Given the description of an element on the screen output the (x, y) to click on. 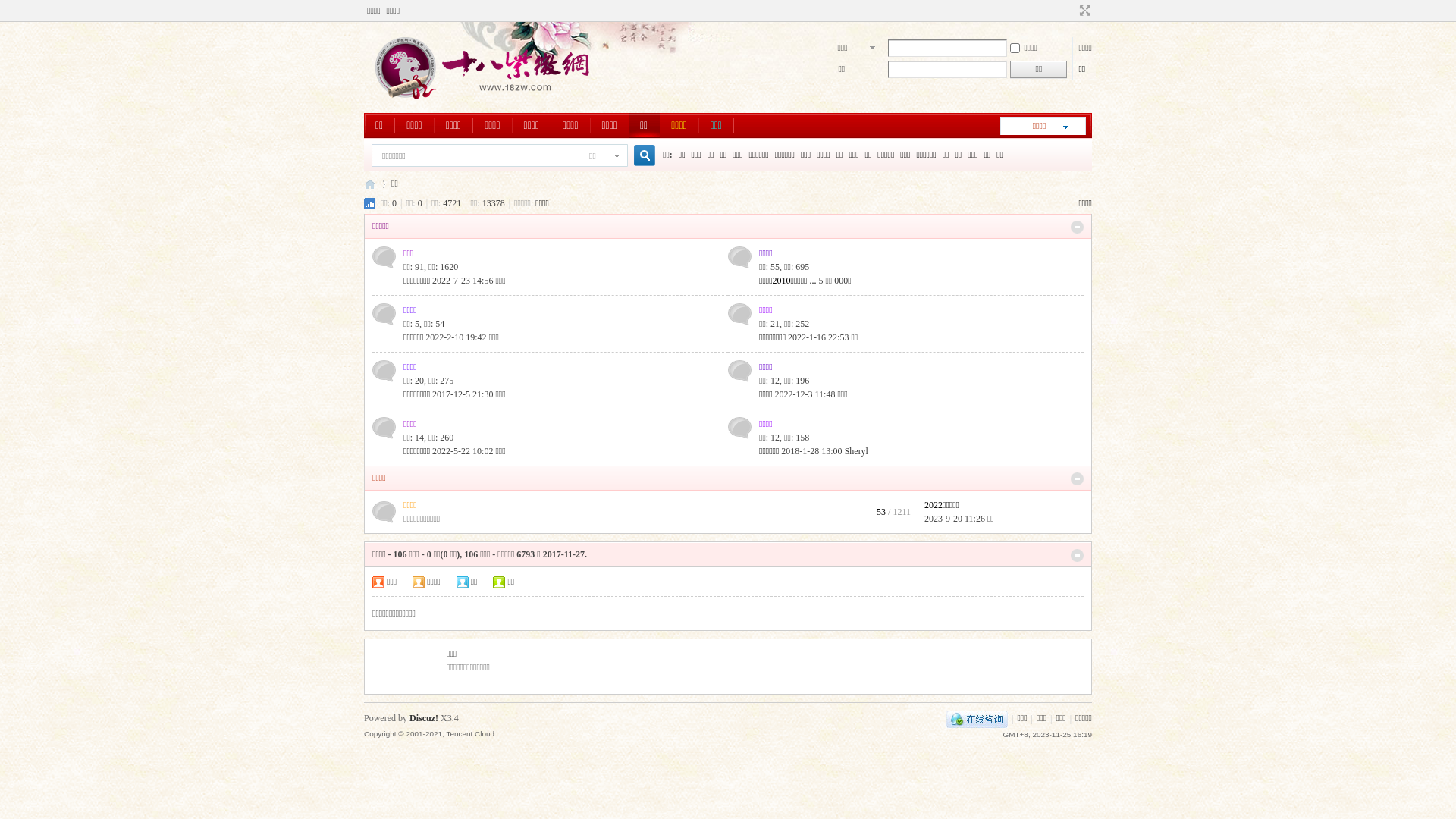
Sheryl Element type: text (856, 450)
QQ Element type: hover (976, 717)
Discuz! Element type: text (423, 717)
true Element type: text (638, 155)
